Given the description of an element on the screen output the (x, y) to click on. 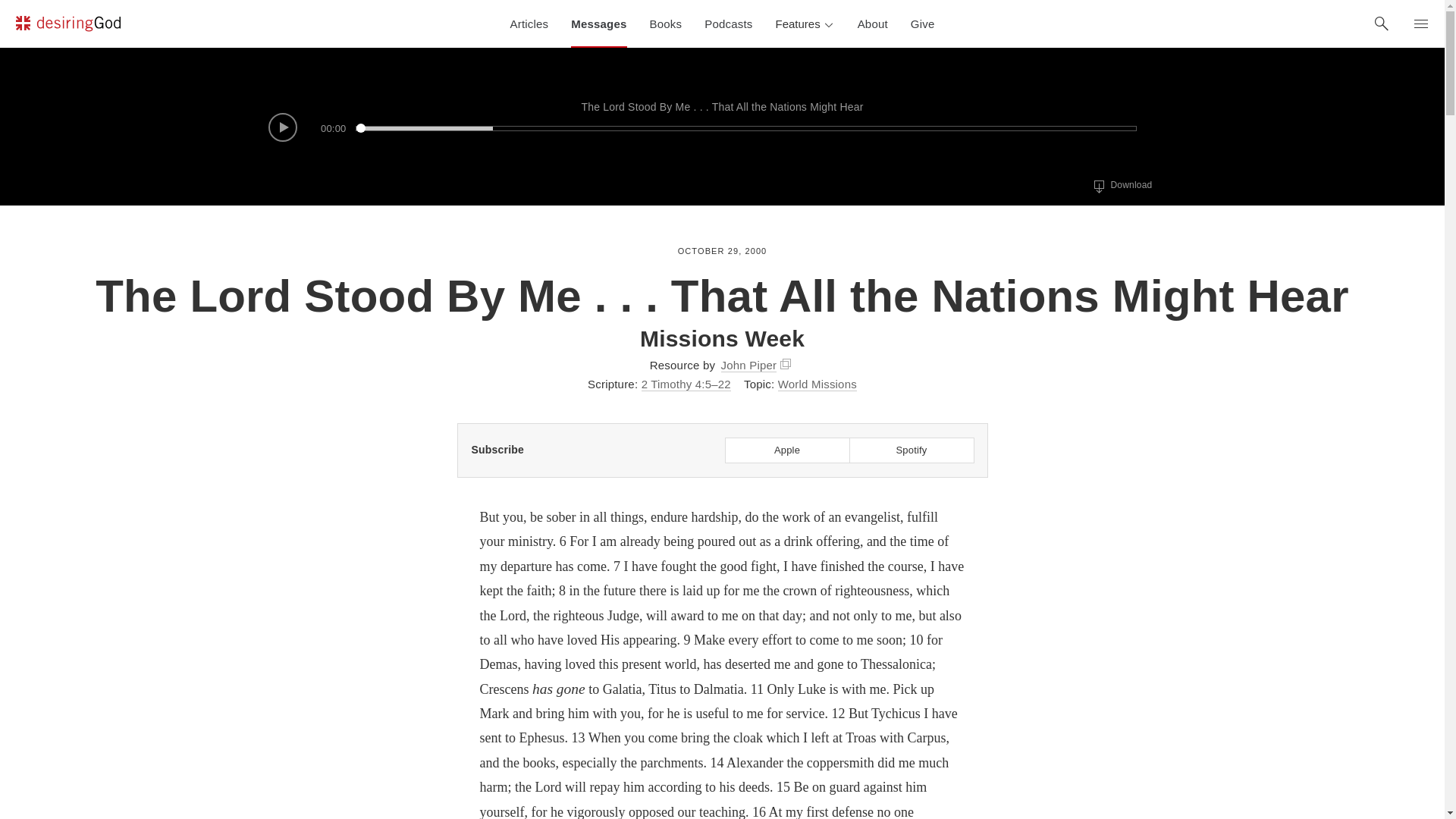
Download (1097, 186)
Articles (529, 23)
Desiring God Logo (1122, 185)
Modal (67, 23)
Books (785, 363)
Give (666, 23)
About (922, 23)
Features (872, 23)
Messages (803, 23)
Desiring God Logo (598, 23)
Podcasts (67, 25)
